Given the description of an element on the screen output the (x, y) to click on. 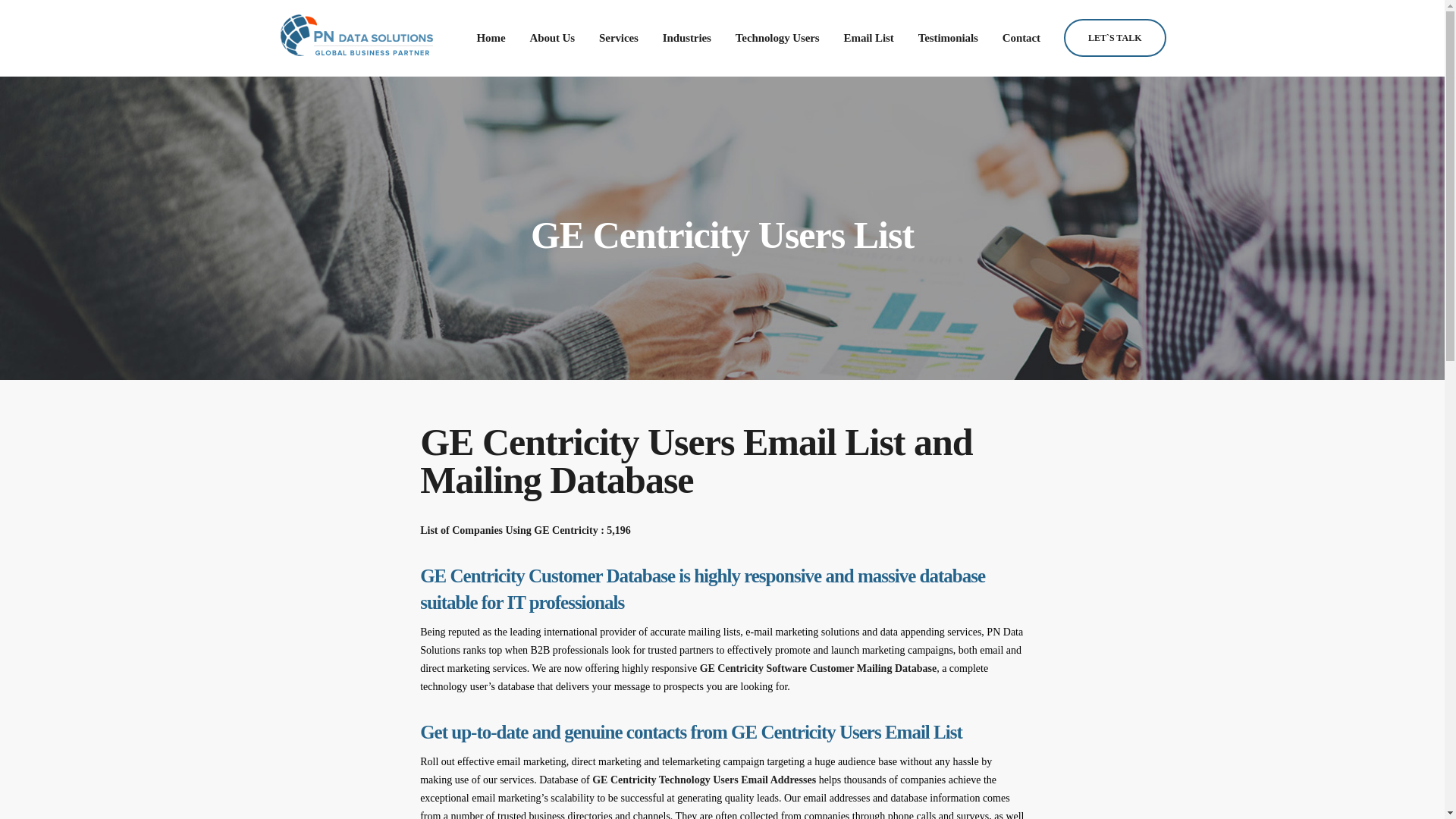
About Us (551, 38)
Industries (686, 38)
Testimonials (947, 38)
Home (491, 38)
Home (491, 38)
Email List (868, 38)
Contact (1021, 38)
About Us (551, 38)
Email List (868, 38)
Testimonials (947, 38)
Technology Users (777, 38)
Services (618, 38)
Contact (1021, 38)
Technology Users (777, 38)
Industries (686, 38)
